Given the description of an element on the screen output the (x, y) to click on. 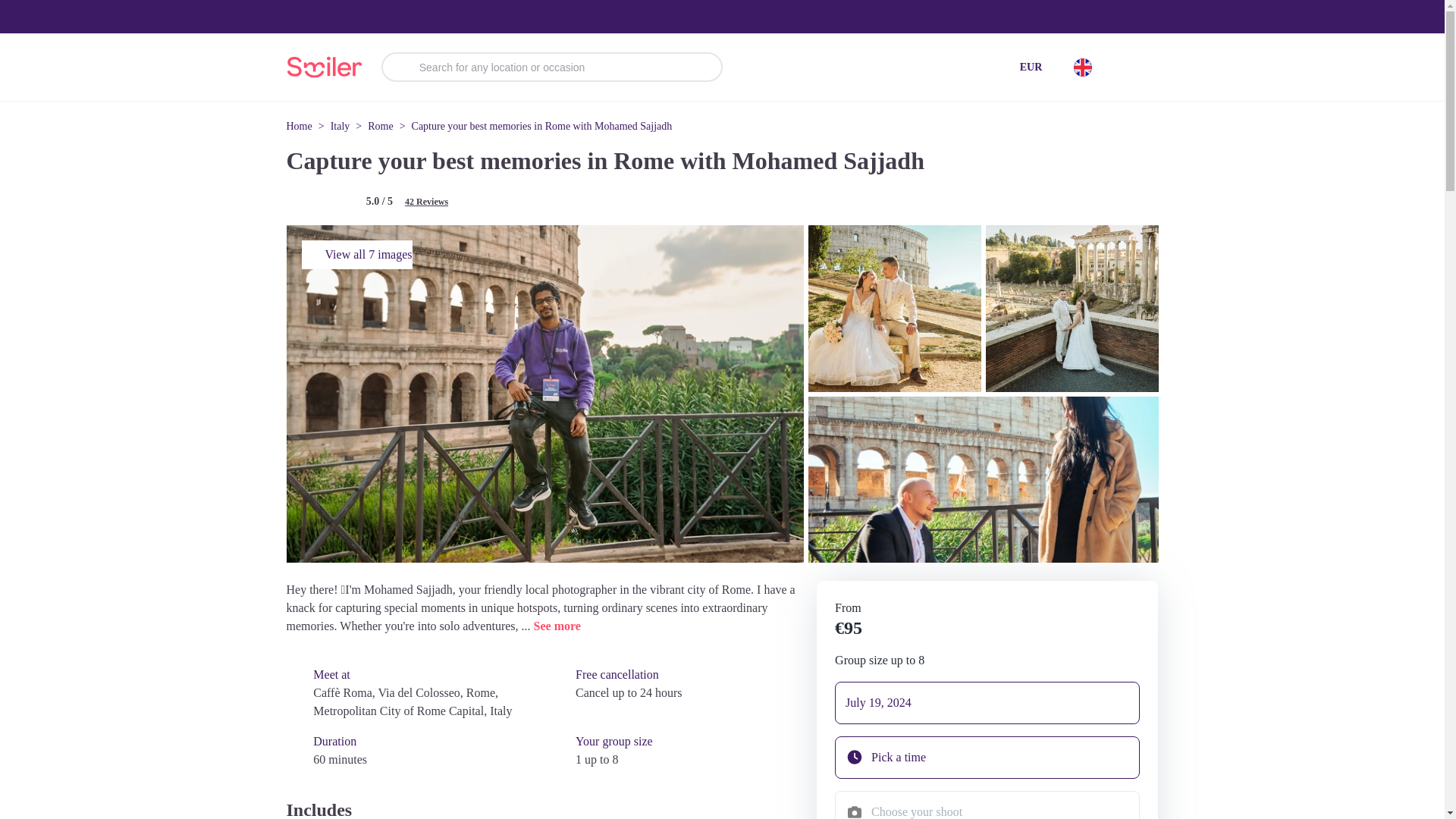
Home (299, 125)
Choose your shoot (987, 805)
View all 7 images (356, 254)
July 19, 2024 (987, 702)
Help (1133, 66)
Select currency (1031, 66)
Pick a time (987, 757)
Select language (1082, 66)
EUR (1031, 66)
Rome (380, 125)
Italy (340, 125)
